Given the description of an element on the screen output the (x, y) to click on. 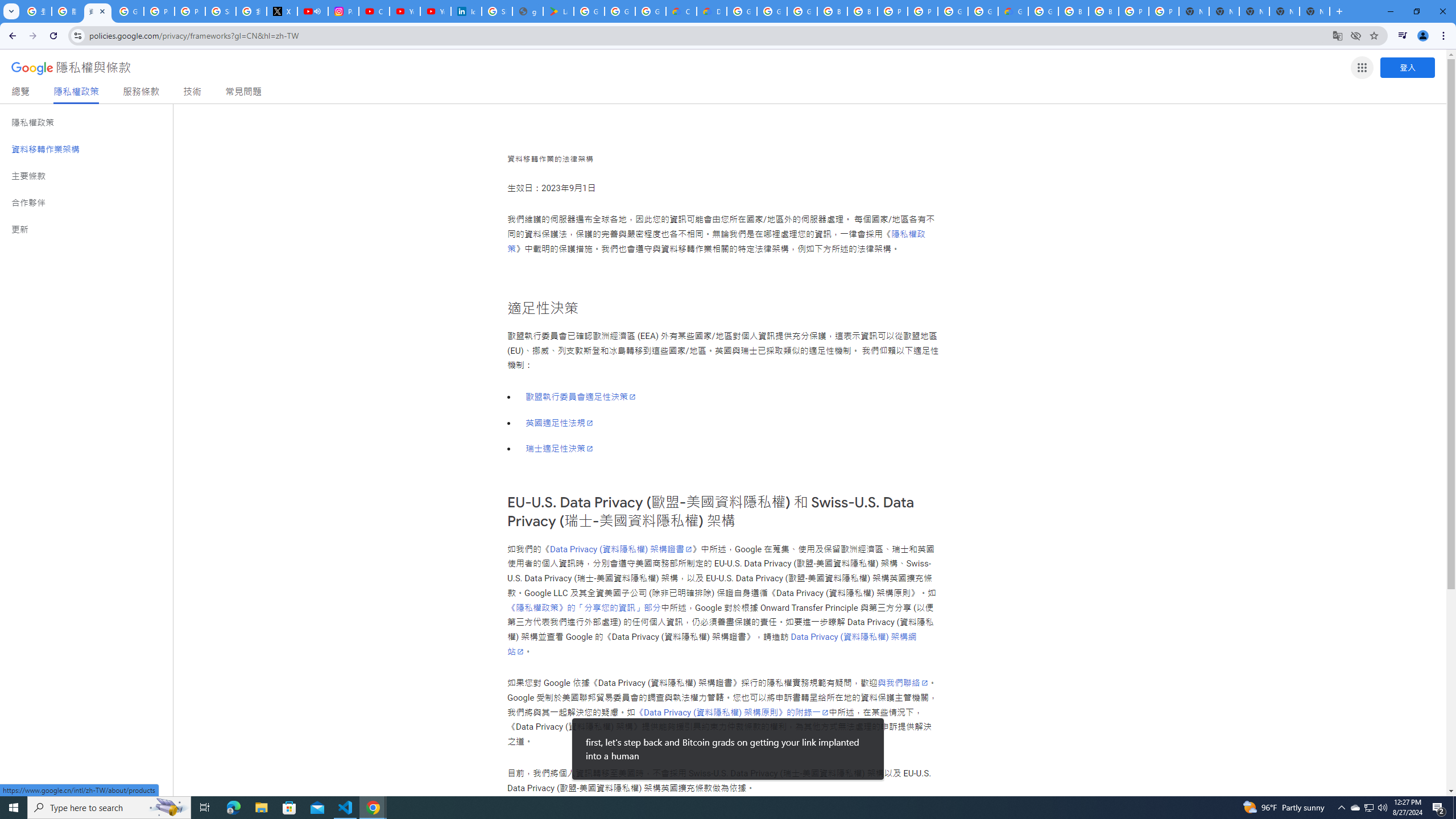
Sign in - Google Accounts (220, 11)
Browse Chrome as a guest - Computer - Google Chrome Help (832, 11)
Last Shelter: Survival - Apps on Google Play (558, 11)
